Given the description of an element on the screen output the (x, y) to click on. 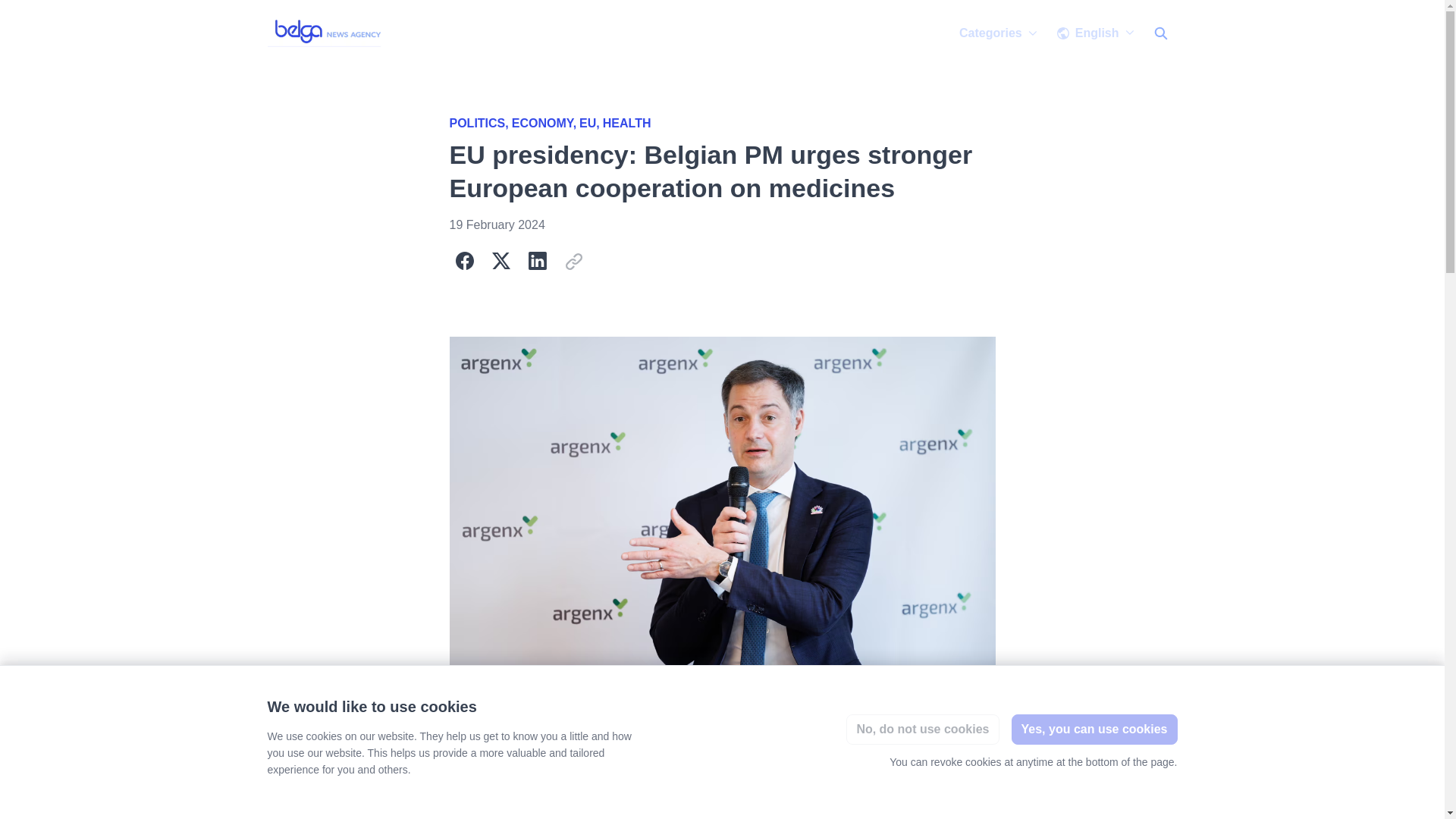
POLITICS (479, 123)
BELGANEWSAGENCY.EU (326, 33)
EU (590, 123)
ECONOMY (545, 123)
Copy URL (572, 260)
Search (1159, 32)
English (1095, 33)
HEALTH (626, 123)
Categories (997, 33)
